Given the description of an element on the screen output the (x, y) to click on. 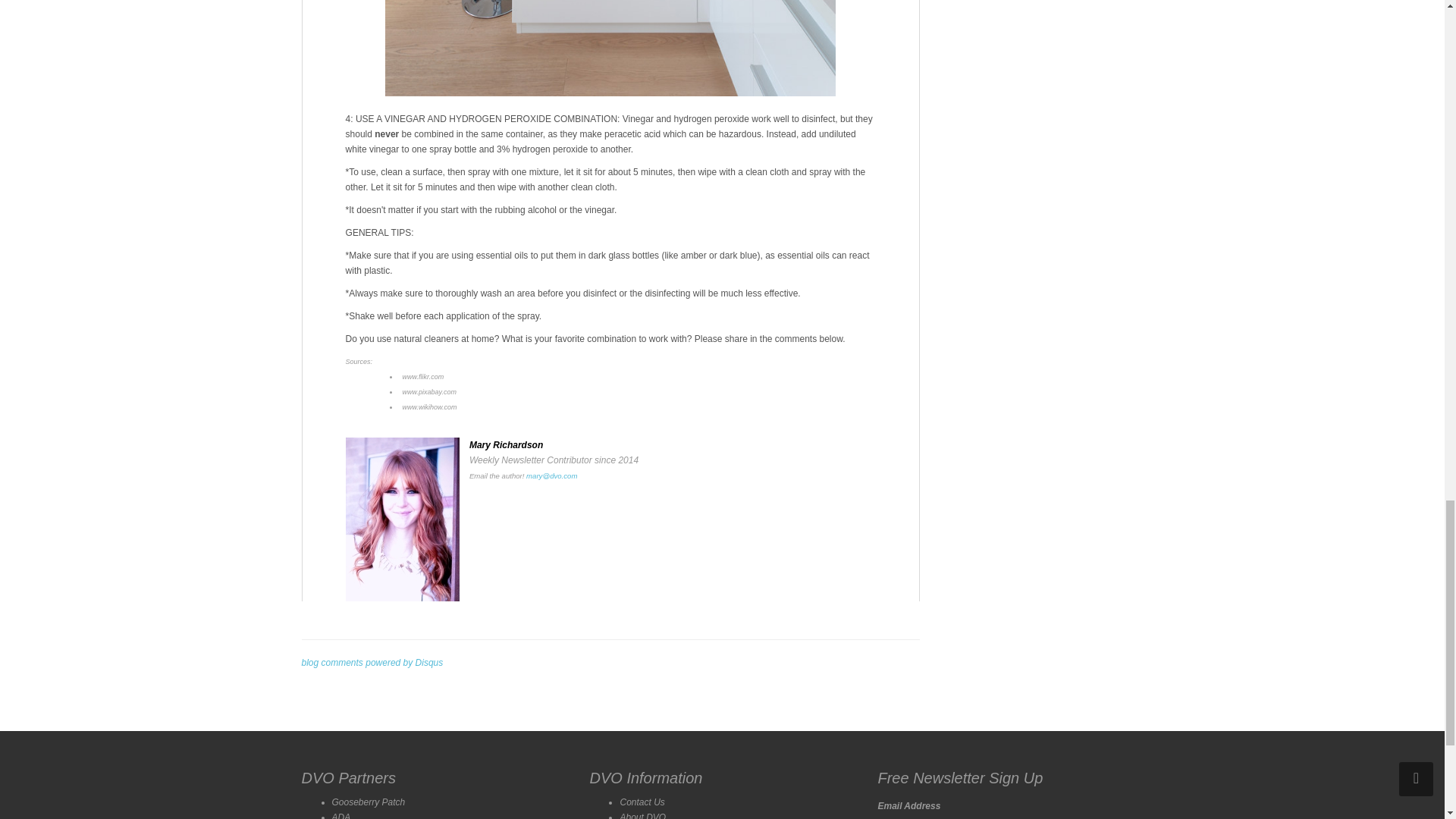
blog comments powered by Disqus (372, 662)
